Given the description of an element on the screen output the (x, y) to click on. 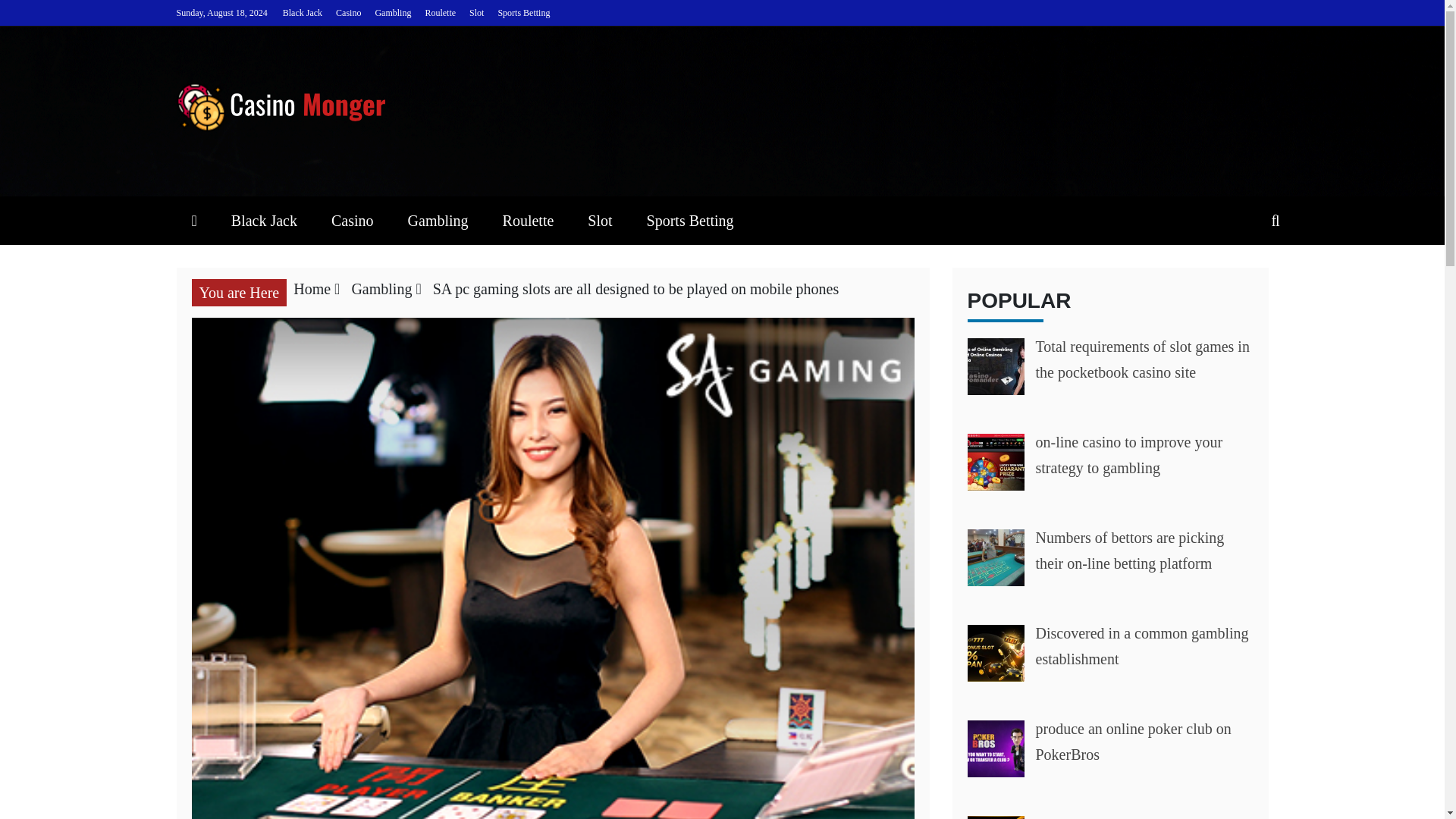
Gambling (438, 220)
Slot (475, 12)
Slot (599, 220)
Black Jack (264, 220)
Roulette (528, 220)
Gambling (381, 288)
Gambling (392, 12)
Black Jack (301, 12)
Sports Betting (690, 220)
Roulette (440, 12)
